Given the description of an element on the screen output the (x, y) to click on. 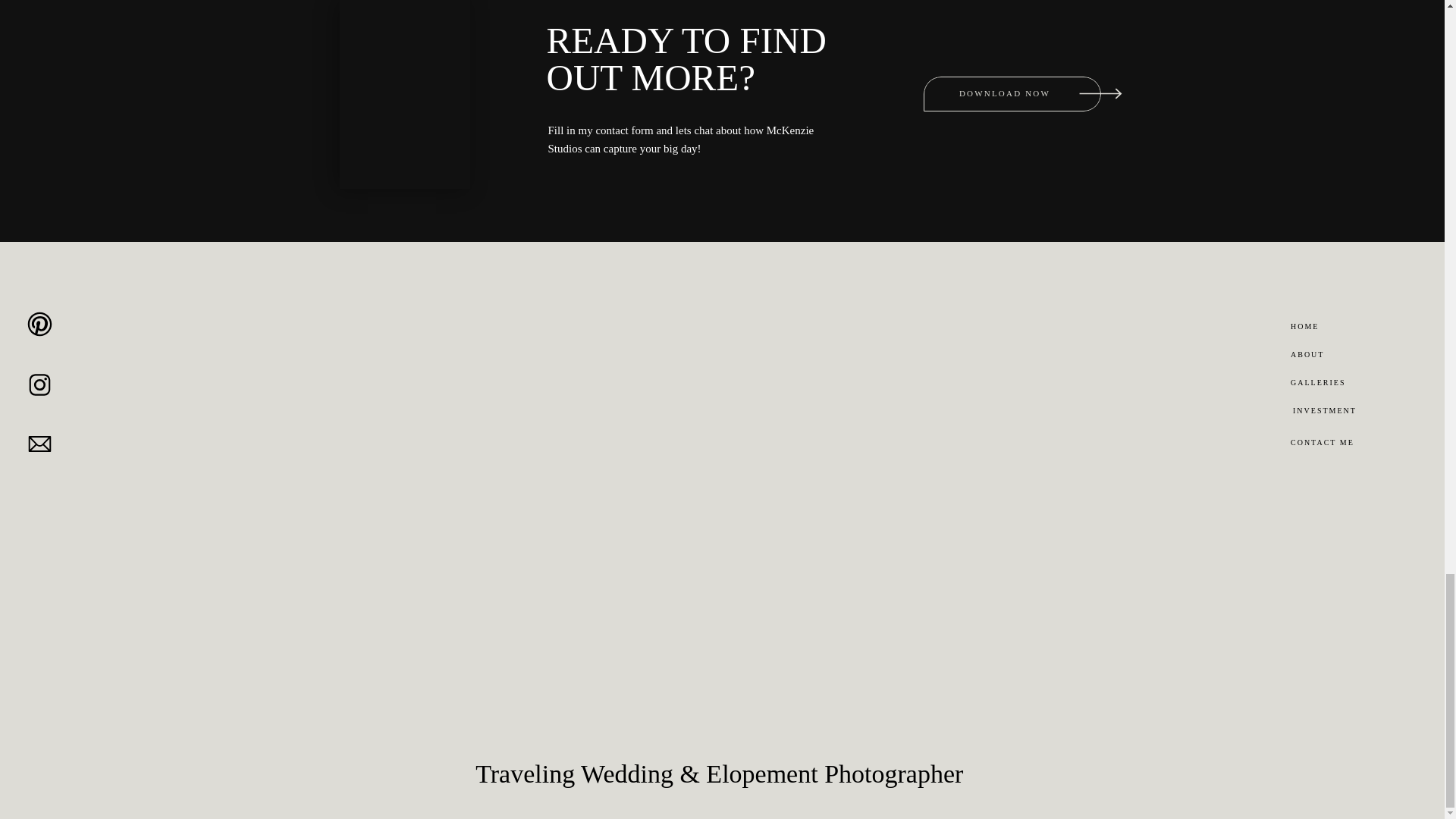
INVESTMENT (1350, 411)
GALLERIES (1349, 383)
DOWNLOAD NOW (1004, 93)
HOME (1341, 327)
CONTACT ME (1348, 443)
ABOUT (1340, 354)
